Given the description of an element on the screen output the (x, y) to click on. 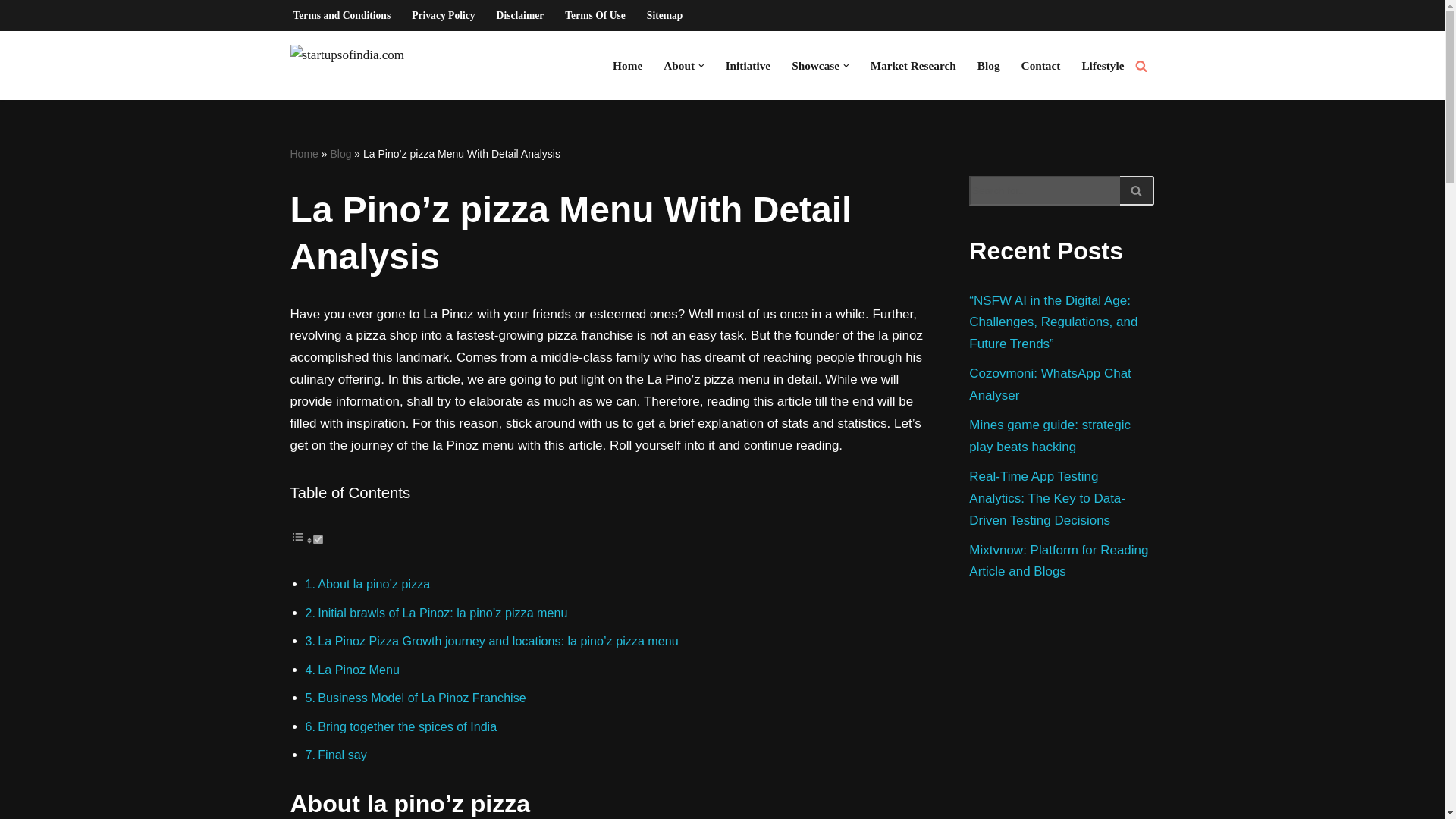
Home (627, 65)
La Pinoz Menu (357, 669)
Skip to content (11, 31)
About (678, 65)
Sitemap (664, 15)
Lifestyle (1102, 65)
Showcase (816, 65)
Market Research (913, 65)
Contact (1041, 65)
Terms Of Use (595, 15)
Home (303, 153)
Initiative (748, 65)
Terms and Conditions (341, 15)
Disclaimer (520, 15)
Blog (988, 65)
